Given the description of an element on the screen output the (x, y) to click on. 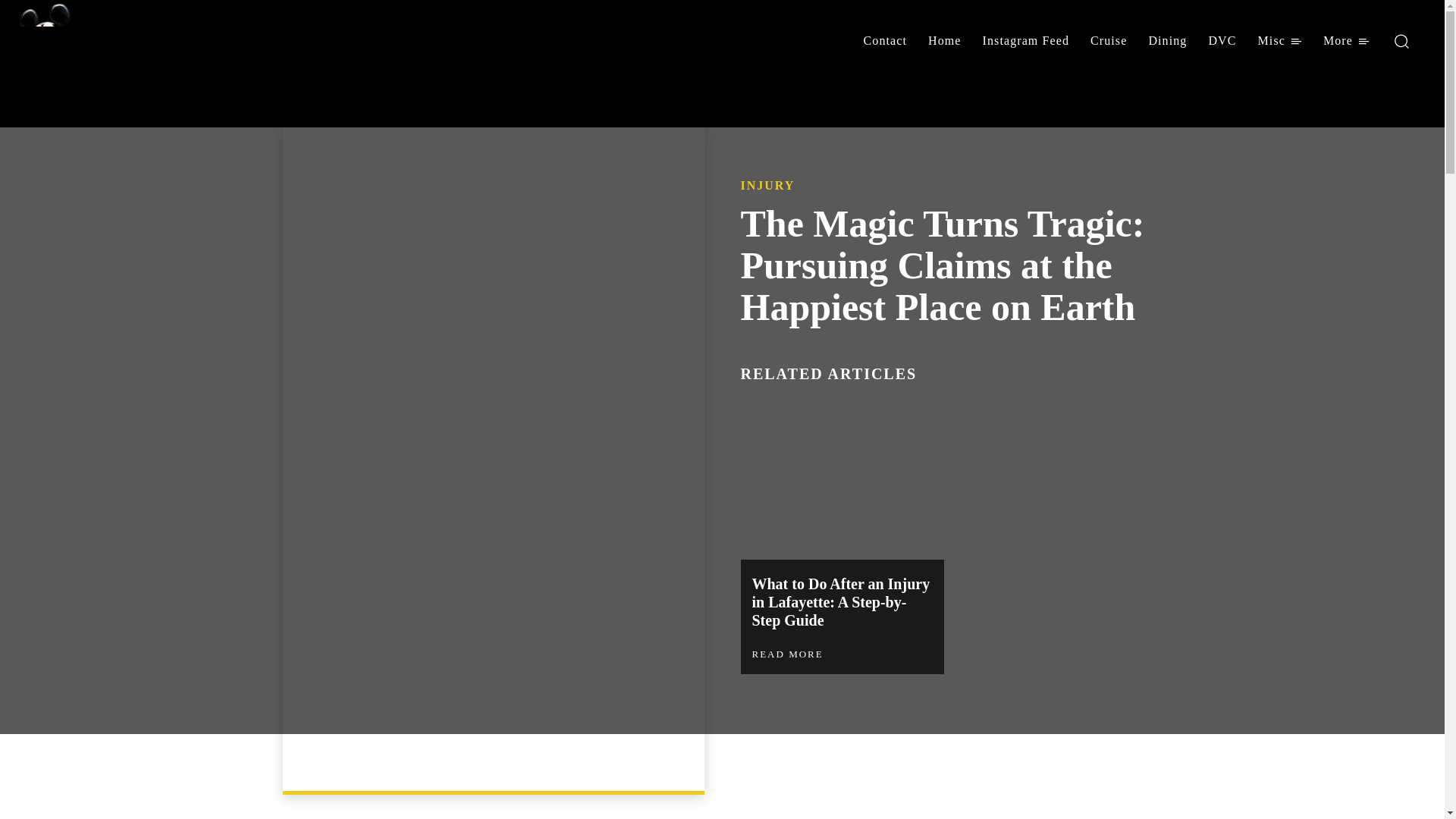
DVC (1221, 40)
Misc (1280, 40)
READ MORE (788, 654)
More (1346, 40)
Cruise (1108, 40)
Dining (1166, 40)
Home (944, 40)
Instagram Feed (1026, 40)
Contact (885, 40)
